Given the description of an element on the screen output the (x, y) to click on. 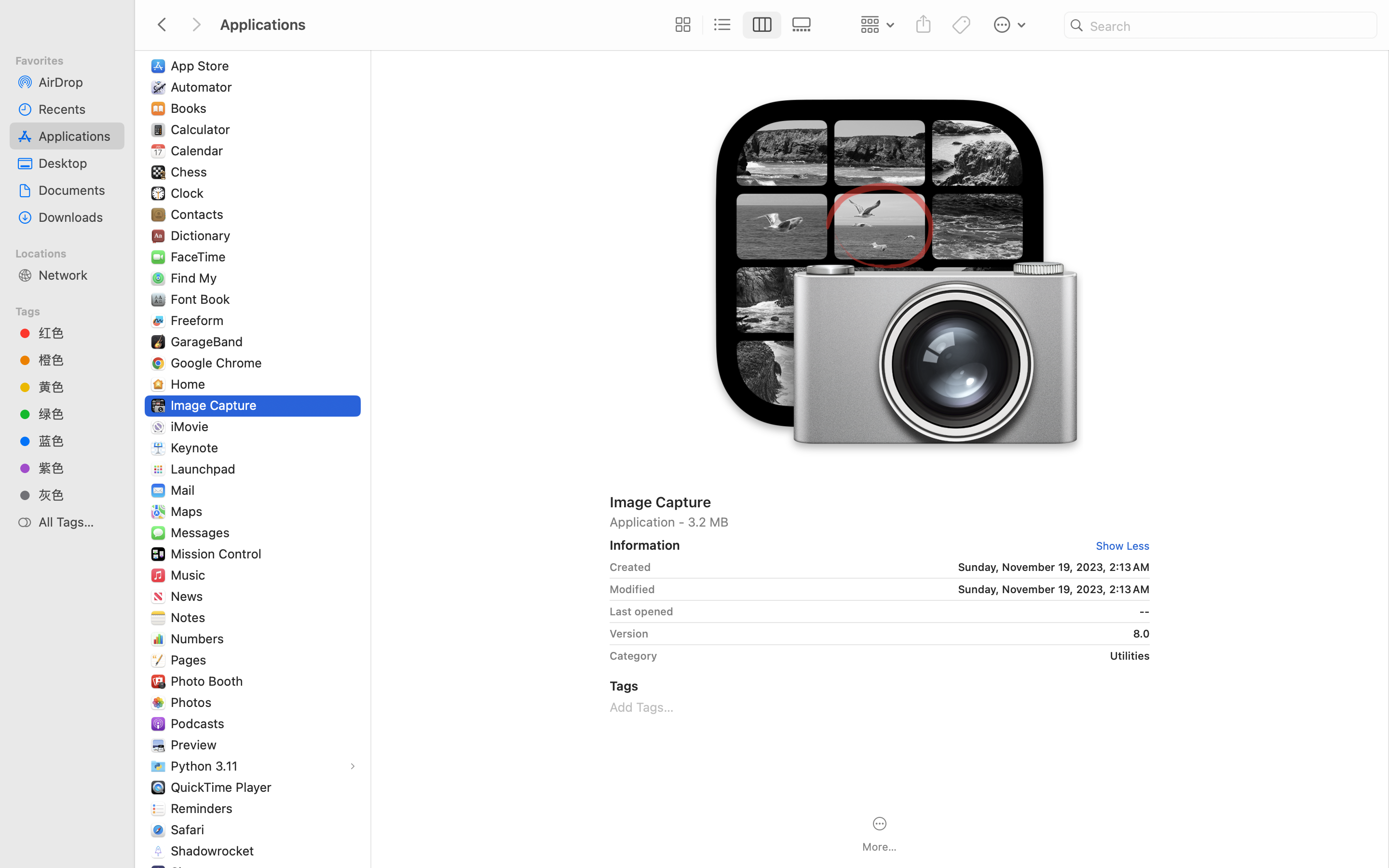
Documents Element type: AXStaticText (77, 189)
Pages Element type: AXTextField (190, 659)
0 Element type: AXRadioButton (680, 24)
App Store Element type: AXTextField (201, 65)
Shadowrocket Element type: AXTextField (214, 850)
